Given the description of an element on the screen output the (x, y) to click on. 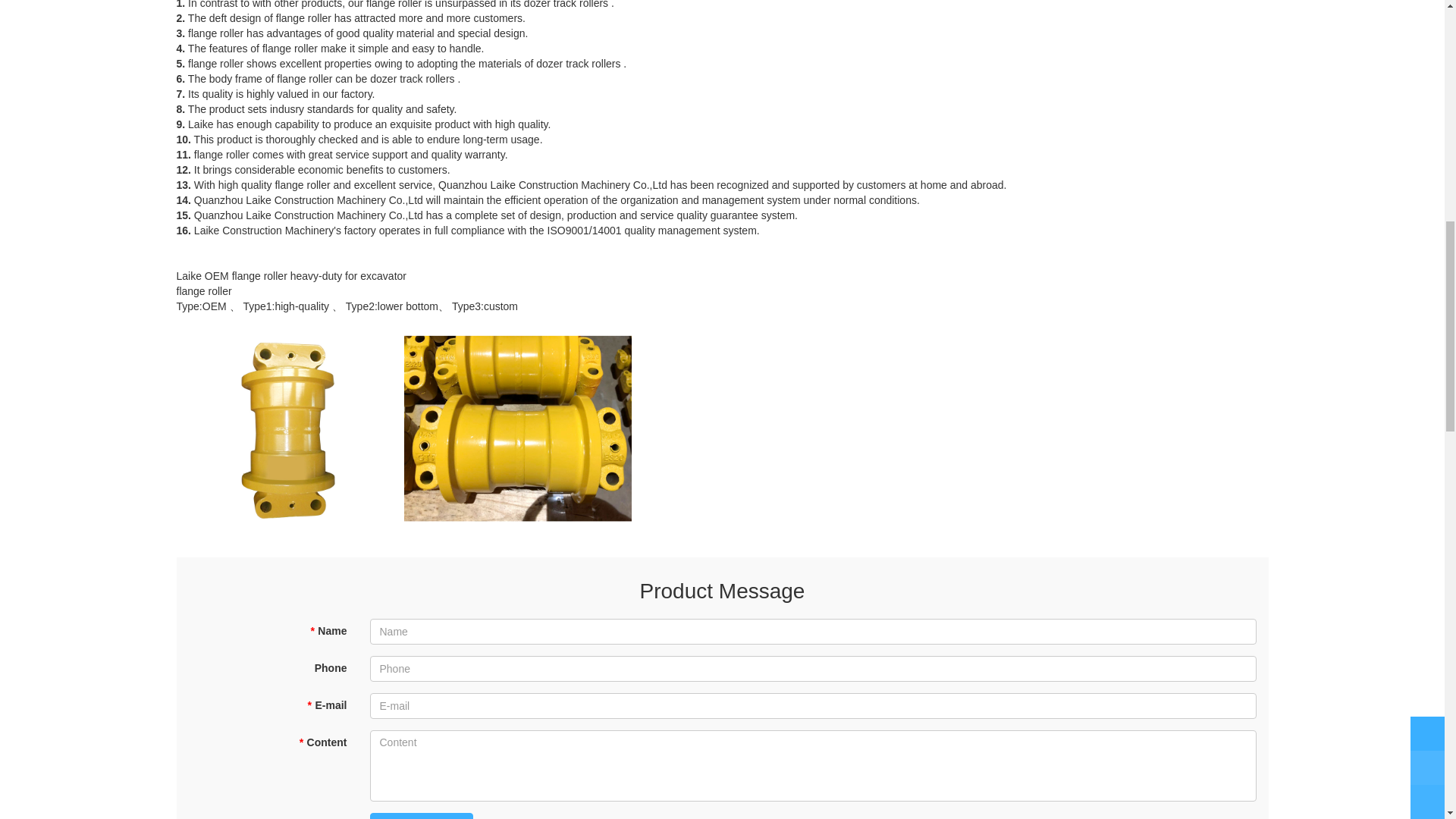
Leave a Message (421, 816)
